Given the description of an element on the screen output the (x, y) to click on. 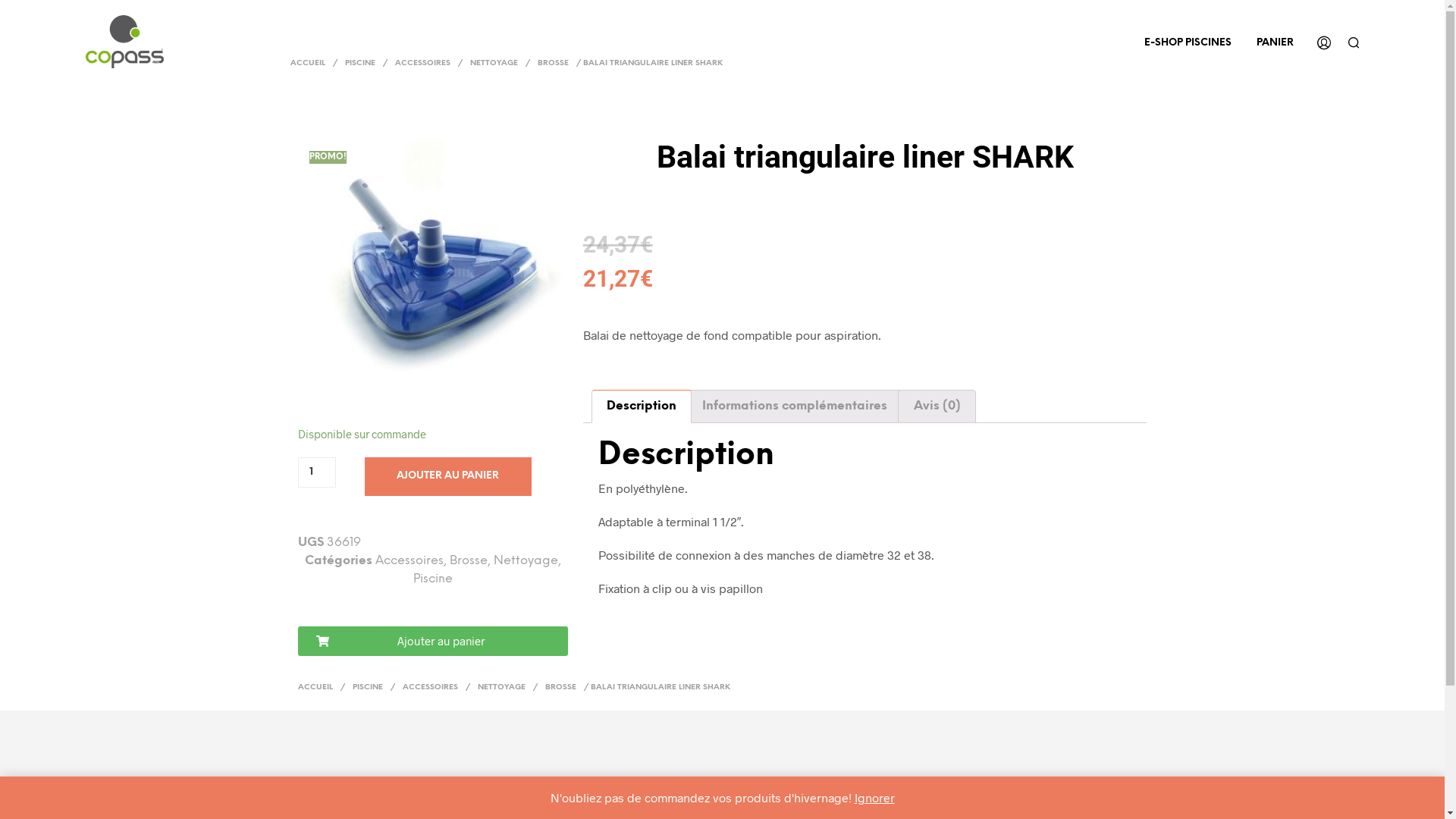
Construction & piscines Element type: hover (123, 41)
BROSSE Element type: text (560, 687)
Avis (0) Element type: text (936, 406)
Ignorer Element type: text (873, 797)
Ajouter au panier Element type: text (432, 640)
E-SHOP PISCINES Element type: text (1187, 42)
Piscine Element type: text (432, 578)
Description Element type: text (641, 406)
ACCUEIL Element type: text (309, 63)
PISCINE Element type: text (359, 63)
NETTOYAGE Element type: text (500, 687)
Accessoires Element type: text (409, 560)
PANIER Element type: text (1275, 42)
ACCESSOIRES Element type: text (430, 687)
Nettoyage Element type: text (525, 560)
Brosse Element type: text (468, 560)
PISCINE Element type: text (367, 687)
ACCESSOIRES Element type: text (422, 63)
ACCUEIL Element type: text (317, 687)
AJOUTER AU PANIER Element type: text (447, 476)
BROSSE Element type: text (553, 63)
NETTOYAGE Element type: text (493, 63)
